Given the description of an element on the screen output the (x, y) to click on. 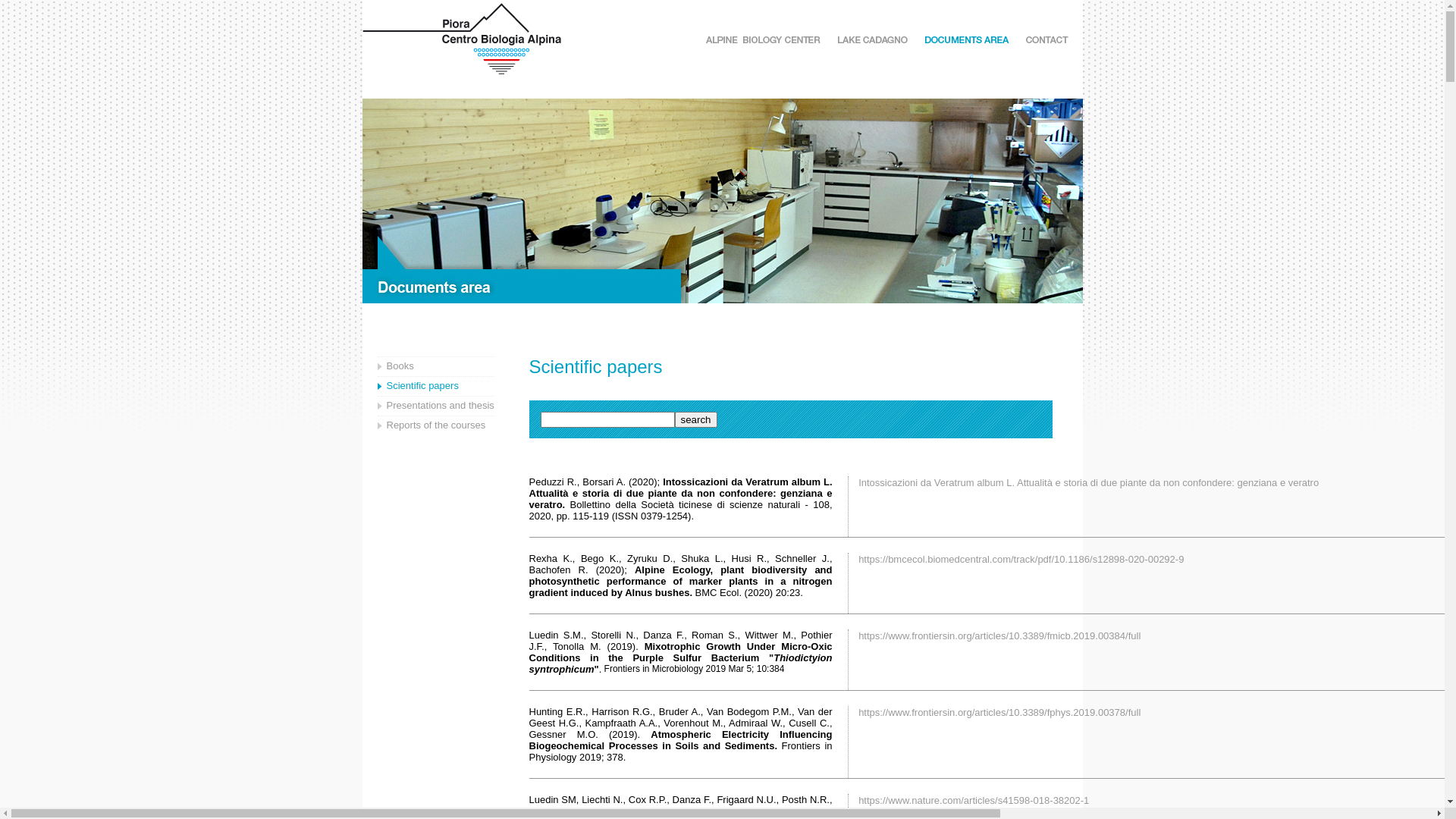
  Element type: text (856, 558)
Reports of the courses Element type: text (436, 424)
  Element type: text (856, 712)
  Element type: text (856, 800)
  Element type: text (856, 482)
https://www.nature.com/articles/s41598-018-38202-1 Element type: text (973, 800)
Books Element type: text (400, 365)
  Element type: text (856, 635)
search Element type: text (695, 419)
Presentations and thesis Element type: text (440, 405)
Scientific papers Element type: text (422, 385)
